Given the description of an element on the screen output the (x, y) to click on. 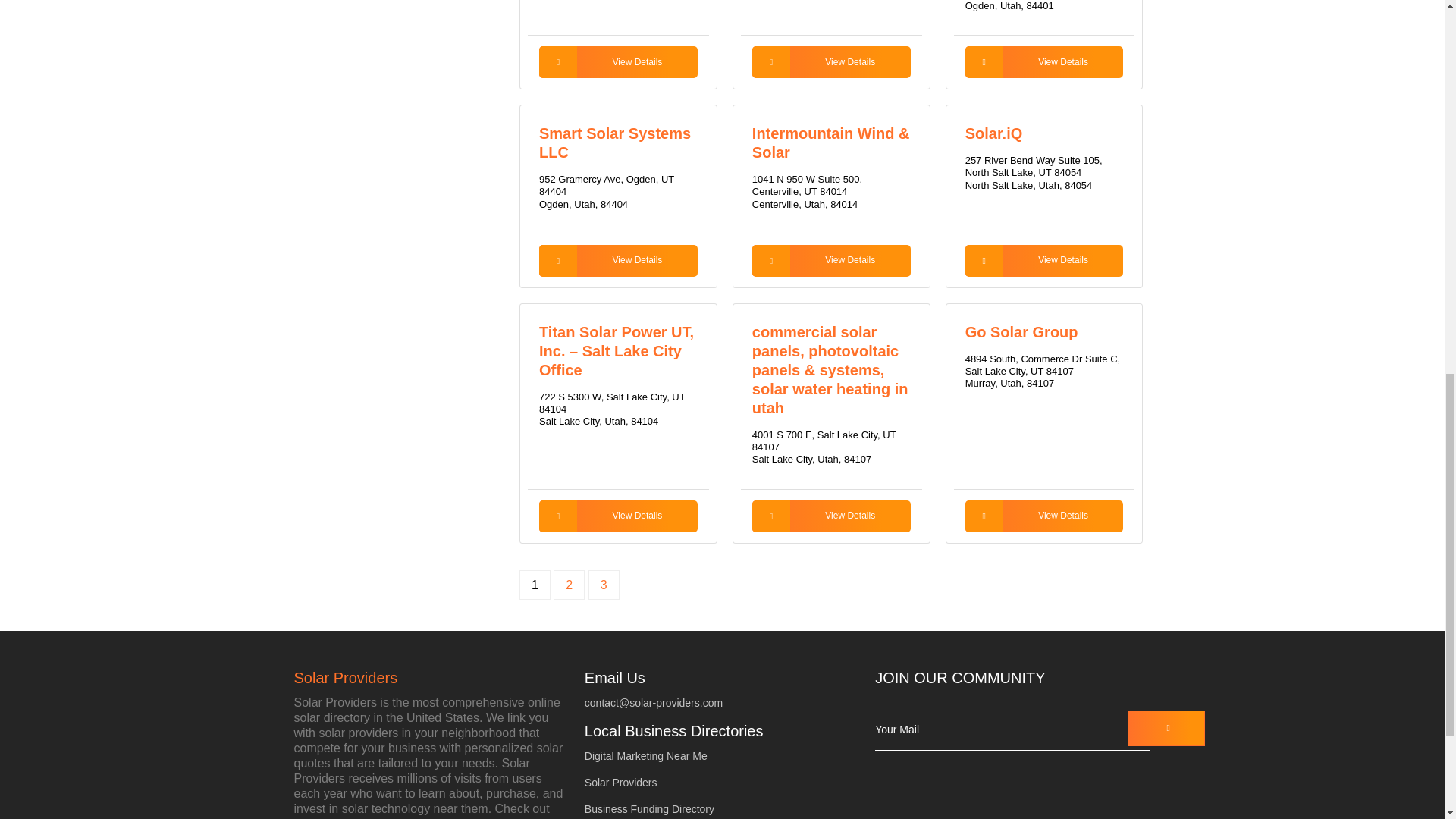
Digital Marketing Near Me (646, 755)
Solar Providers (431, 678)
2 (569, 584)
View Details (617, 61)
View Details (617, 516)
Go Solar Group (1021, 331)
View Details (1044, 260)
Business Funding Directory (649, 808)
View Details (831, 516)
Solar.iQ (994, 133)
View Details (831, 260)
View Details (1044, 516)
3 (604, 584)
Solar Providers (621, 782)
View Details (1044, 61)
